Given the description of an element on the screen output the (x, y) to click on. 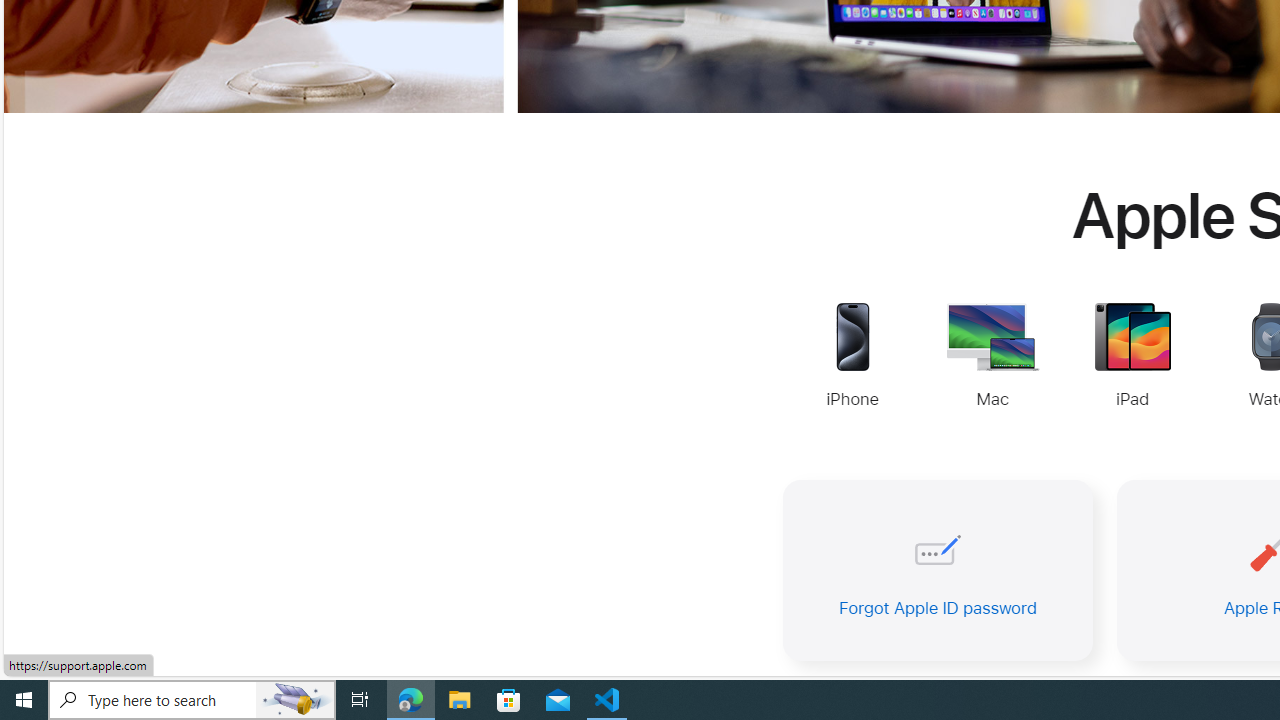
Forgot Apple ID password (938, 570)
iPhone Support (852, 358)
Mac Support (992, 358)
iPad Support (1131, 358)
